Given the description of an element on the screen output the (x, y) to click on. 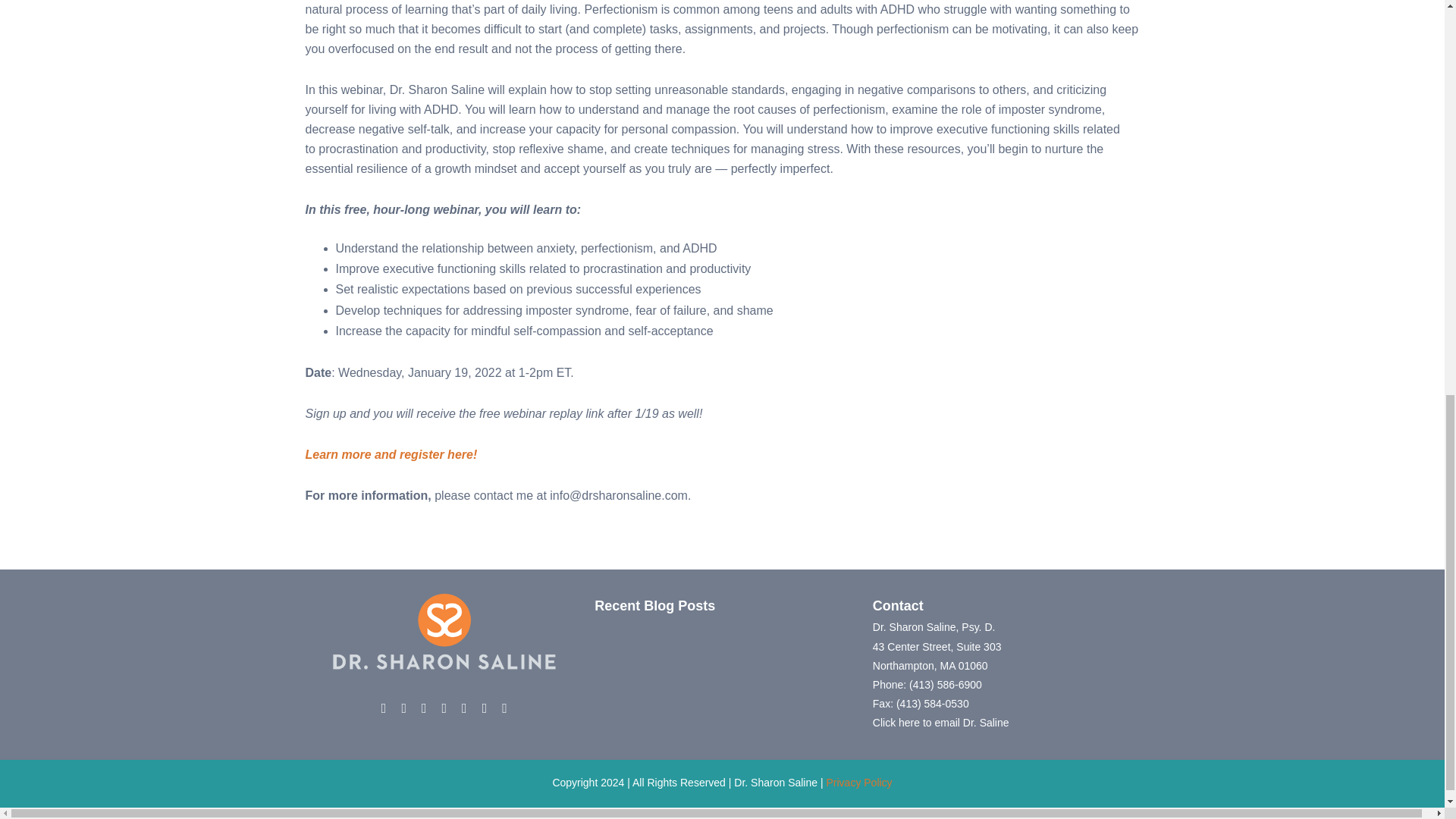
Learn more and register here! (390, 454)
footer-logo (444, 631)
